Given the description of an element on the screen output the (x, y) to click on. 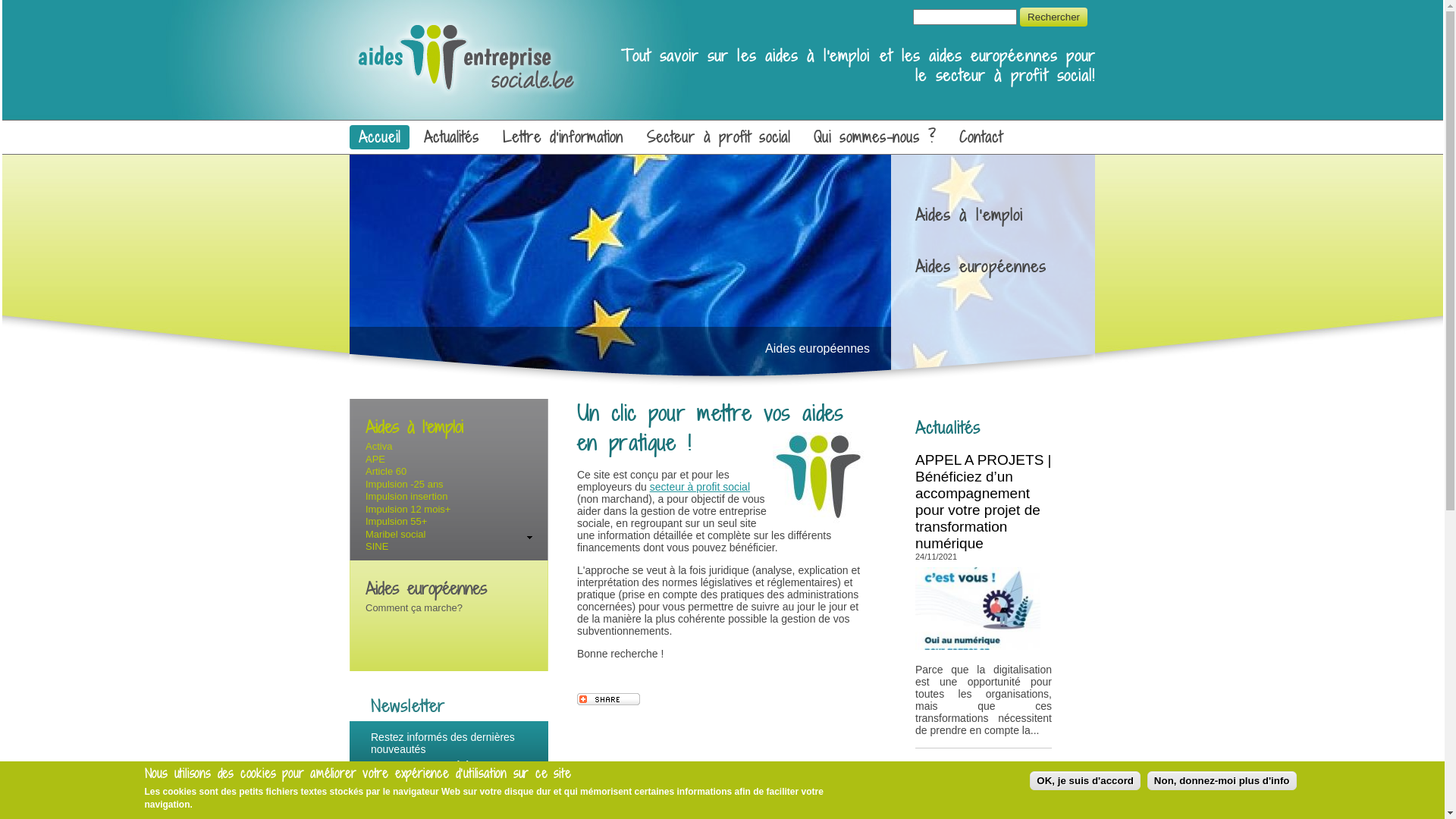
SINE Element type: text (376, 546)
Rechercher Element type: text (1053, 16)
Qui sommes-nous ? Element type: text (874, 137)
Non, donnez-moi plus d'info Element type: text (1221, 780)
Page d'accueil Element type: hover (465, 92)
Unipso Element type: text (371, 114)
Accueil Element type: text (379, 137)
Impulsion -25 ans Element type: text (404, 483)
Impulsion 55+ Element type: text (395, 521)
Maribel social Element type: text (395, 533)
Lettre d'information Element type: text (562, 137)
Aller au contenu principal Element type: text (59, 0)
Activa Element type: text (378, 445)
S'abonner Element type: text (451, 799)
APE Element type: text (375, 458)
Impulsion insertion Element type: text (406, 496)
Impulsion 12 mois+ Element type: text (407, 508)
Article 60 Element type: text (385, 470)
Contact Element type: text (980, 137)
OK, je suis d'accord Element type: text (1084, 780)
